Given the description of an element on the screen output the (x, y) to click on. 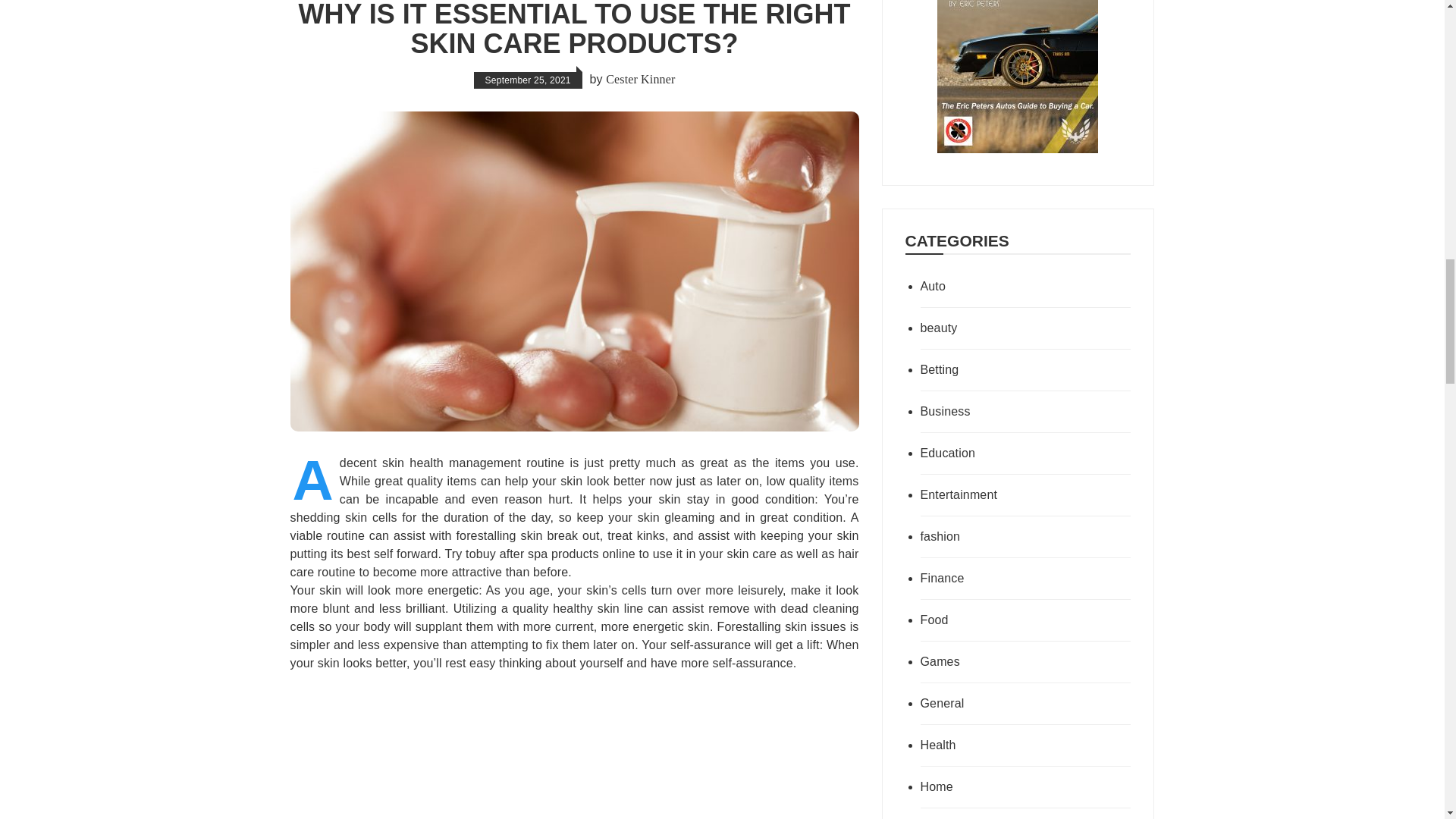
Cester Kinner (640, 79)
WHY IS IT ESSENTIAL TO USE THE RIGHT SKIN CARE PRODUCTS? (574, 29)
September 25, 2021 (528, 80)
